Given the description of an element on the screen output the (x, y) to click on. 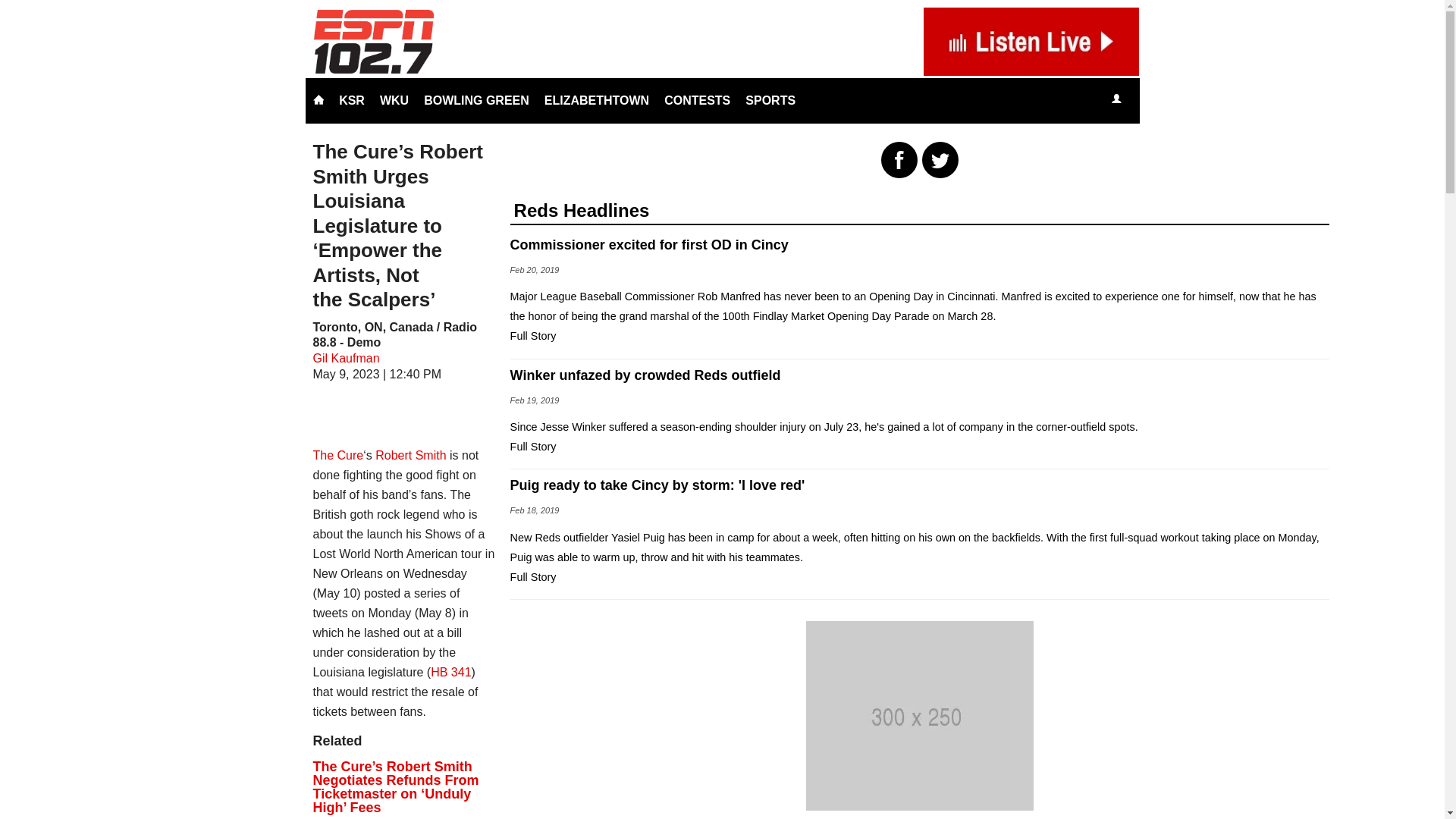
The Cure (337, 454)
Listen Live (1161, 100)
HOME (318, 99)
Gil Kaufman (345, 358)
Sign In (1115, 100)
BOWLING GREEN (476, 100)
KSR (351, 100)
WKU (394, 100)
Sign In (1116, 99)
HB 341 (450, 671)
CONTESTS (697, 100)
SPORTS (770, 100)
Robert Smith (410, 454)
ELIZABETHTOWN (596, 100)
